Given the description of an element on the screen output the (x, y) to click on. 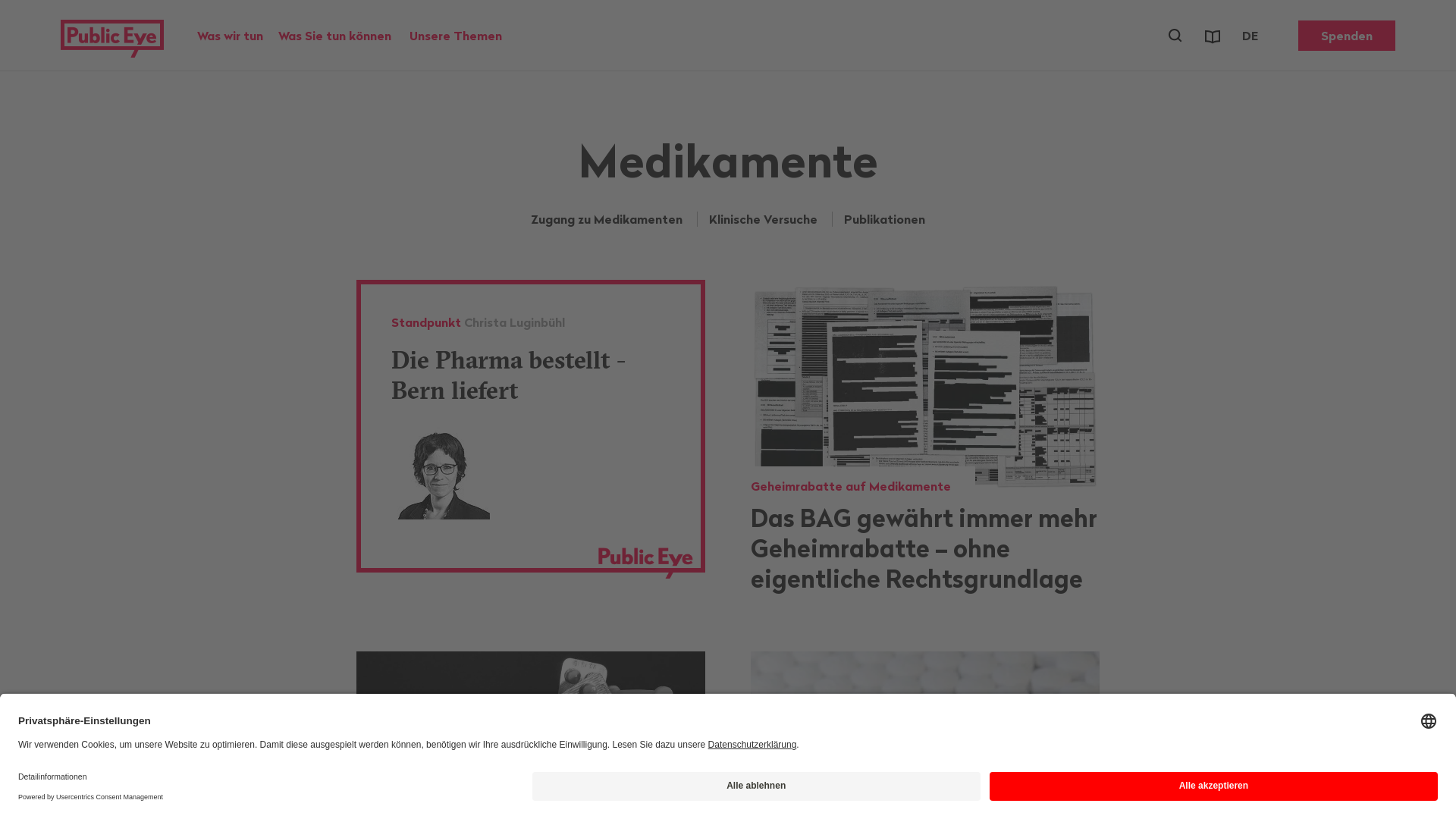
Spenden Element type: text (1346, 35)
Publikationen Element type: text (1212, 35)
Unsere Themen
Kategorie wechseln Element type: text (455, 35)
Public Eye, zur Homepage Element type: hover (111, 35)
Publikationen Element type: text (884, 218)
Was wir tun Element type: text (230, 35)
Zugang zu Medikamenten Element type: text (606, 218)
Klinische Versuche Element type: text (762, 218)
